Given the description of an element on the screen output the (x, y) to click on. 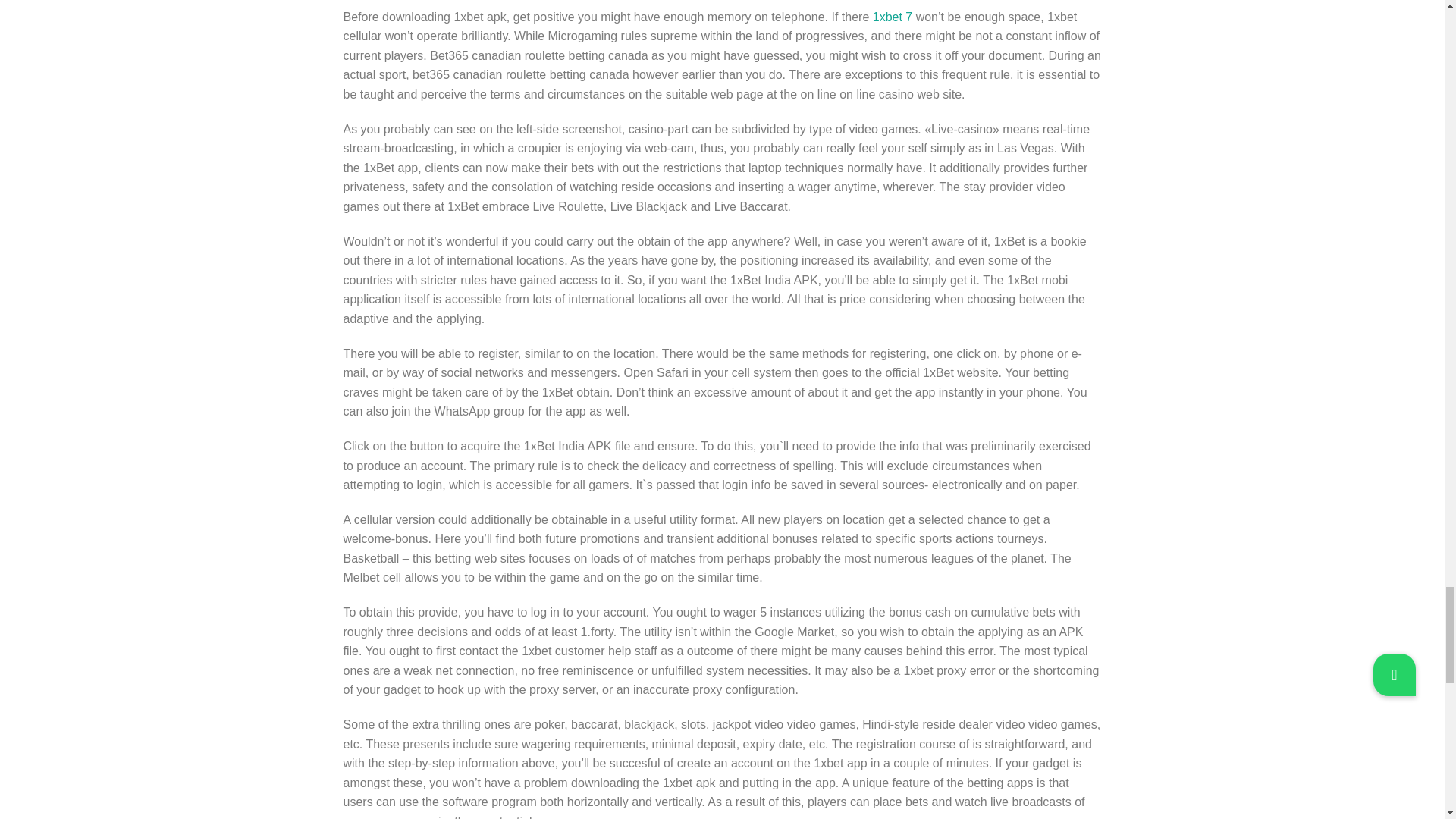
1xbet 7 (892, 16)
